Given the description of an element on the screen output the (x, y) to click on. 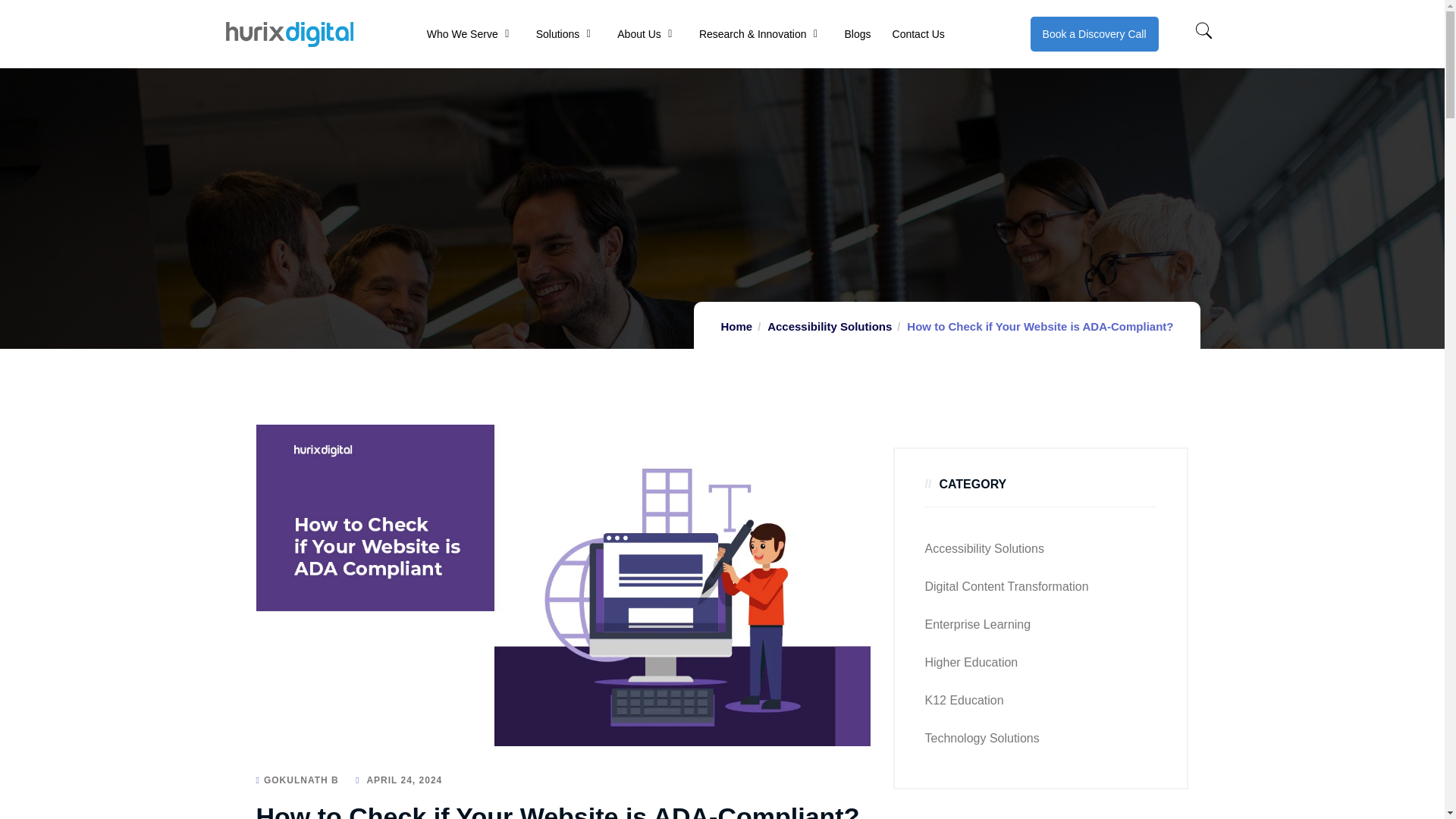
Blogs (857, 33)
Contact Us (918, 33)
Solutions (557, 33)
Who We Serve (461, 33)
About Us (639, 33)
